Given the description of an element on the screen output the (x, y) to click on. 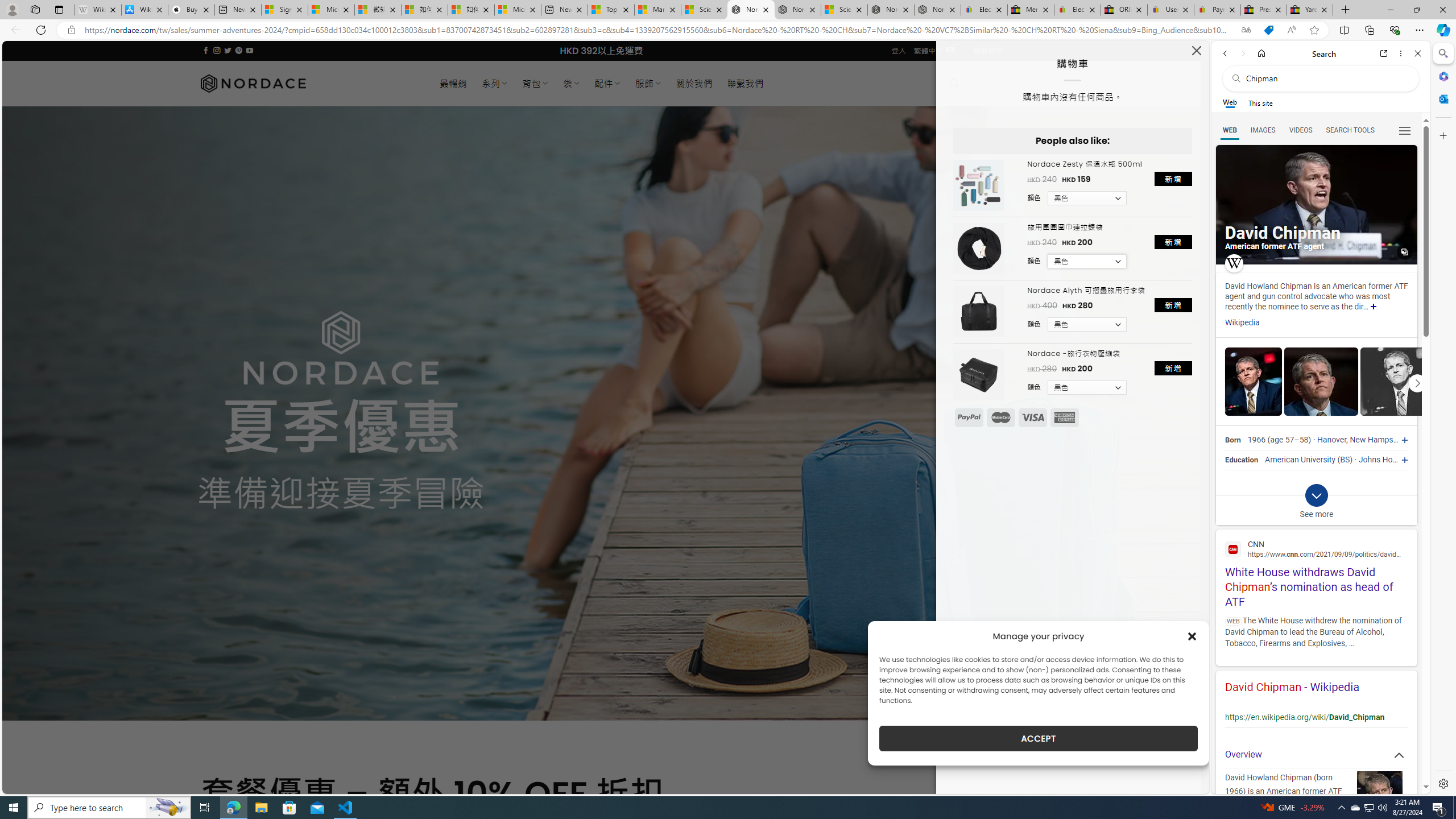
Follow on YouTube (249, 50)
Marine life - MSN (656, 9)
Search Filter, IMAGES (1262, 129)
